Given the description of an element on the screen output the (x, y) to click on. 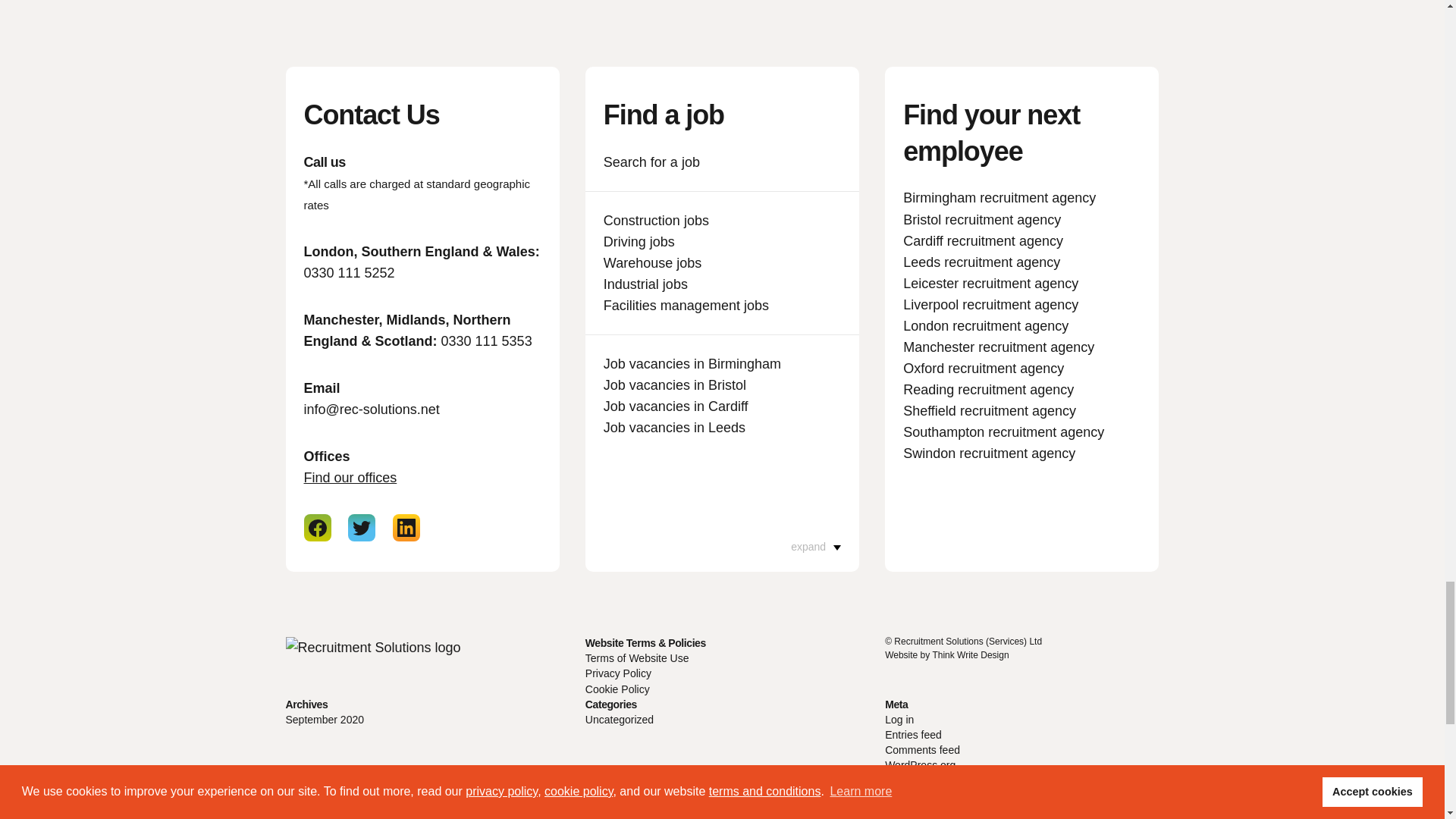
Recruitment Solutions Twitter (361, 527)
Recruitment Solutions Facebook (316, 527)
Recruitment Solutions LinkedIn (406, 527)
